Given the description of an element on the screen output the (x, y) to click on. 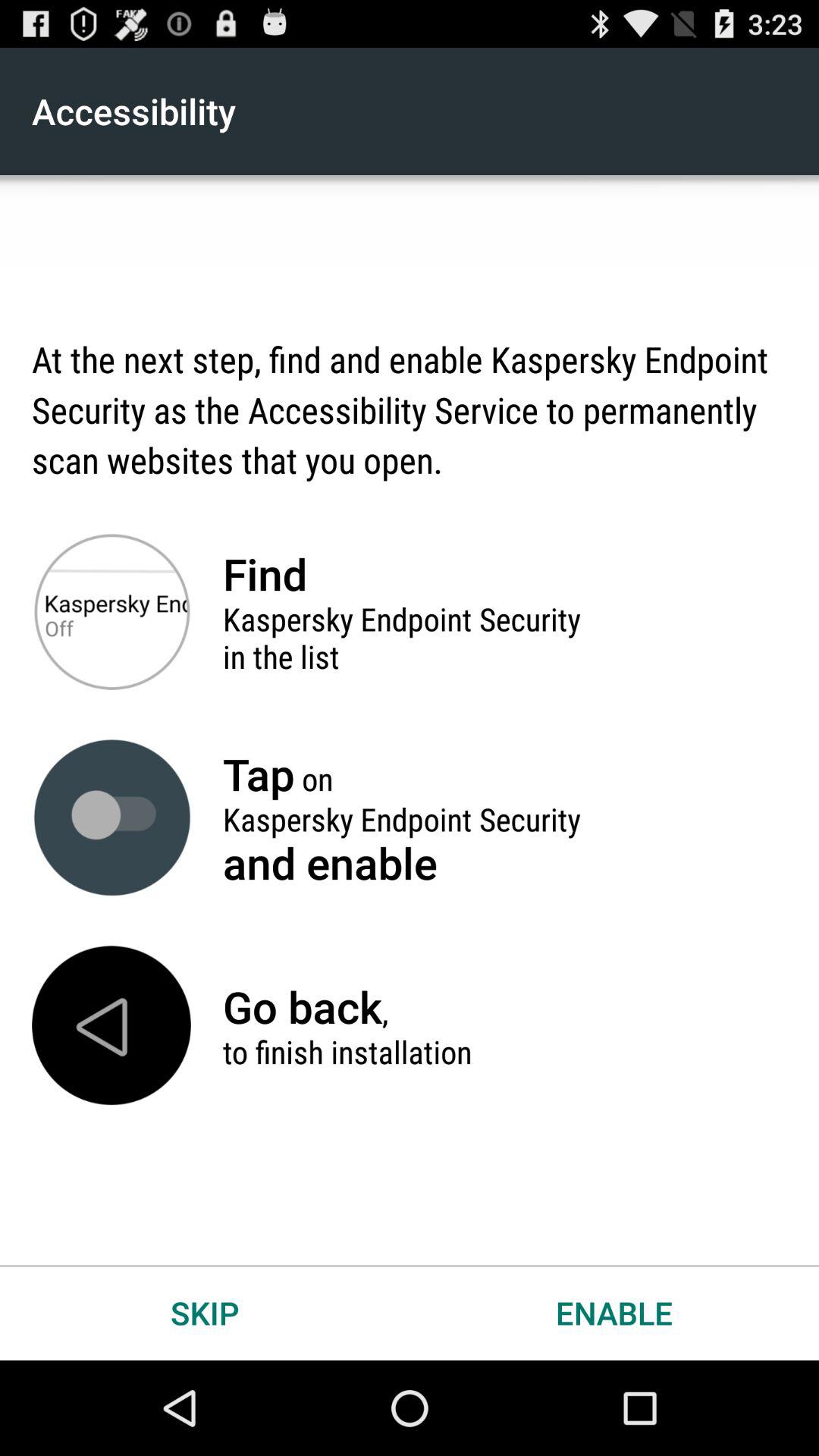
turn off the skip (204, 1312)
